Given the description of an element on the screen output the (x, y) to click on. 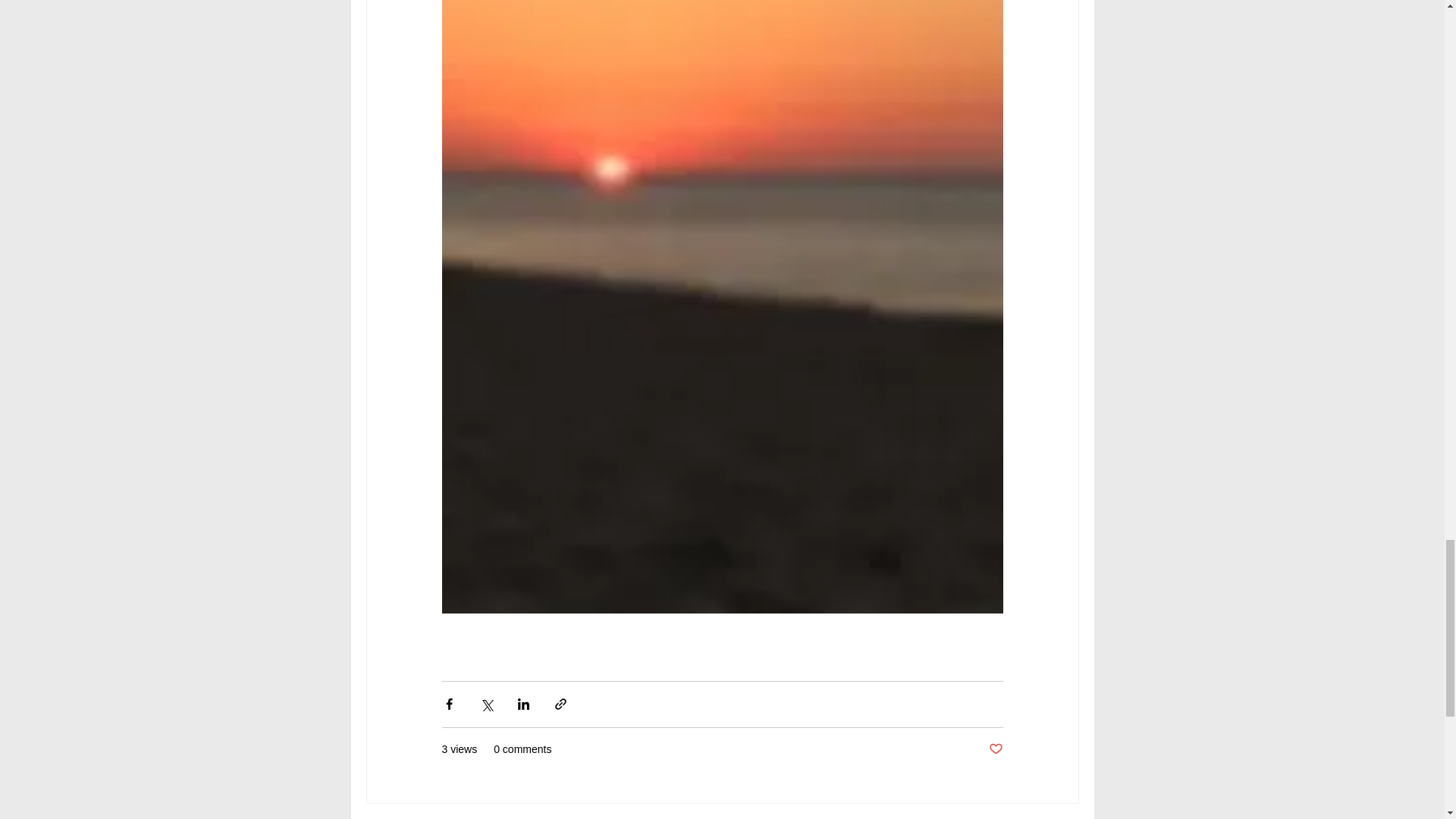
Post not marked as liked (995, 749)
